Given the description of an element on the screen output the (x, y) to click on. 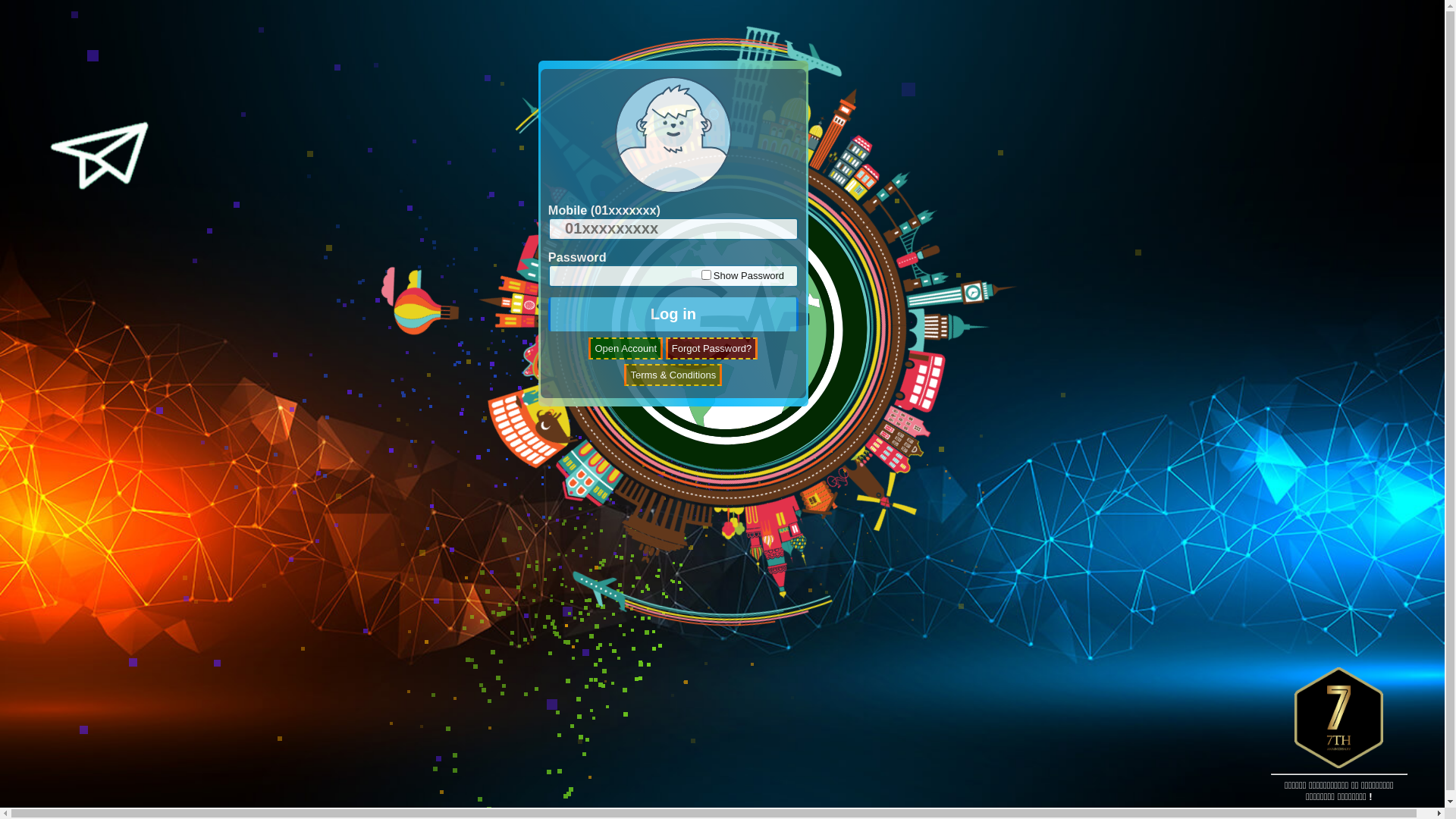
Open Account Element type: text (625, 348)
on Element type: text (706, 274)
Terms & Conditions Element type: text (672, 374)
Log in Element type: text (673, 314)
Forgot Password? Element type: text (711, 348)
